Given the description of an element on the screen output the (x, y) to click on. 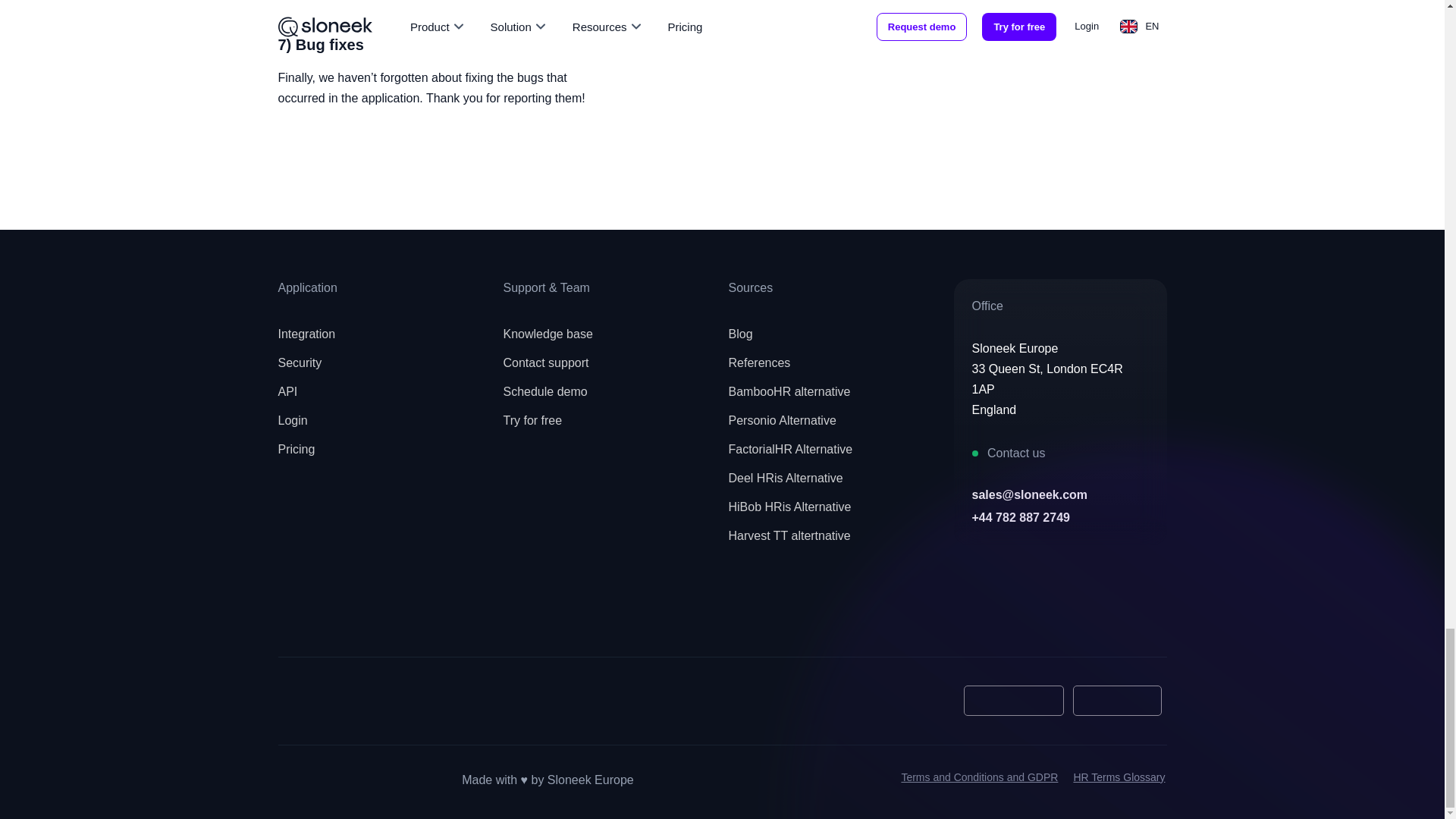
audioboom (500, 612)
facebook (300, 612)
Capterra (324, 700)
linkedin (433, 612)
youtube (367, 612)
